Given the description of an element on the screen output the (x, y) to click on. 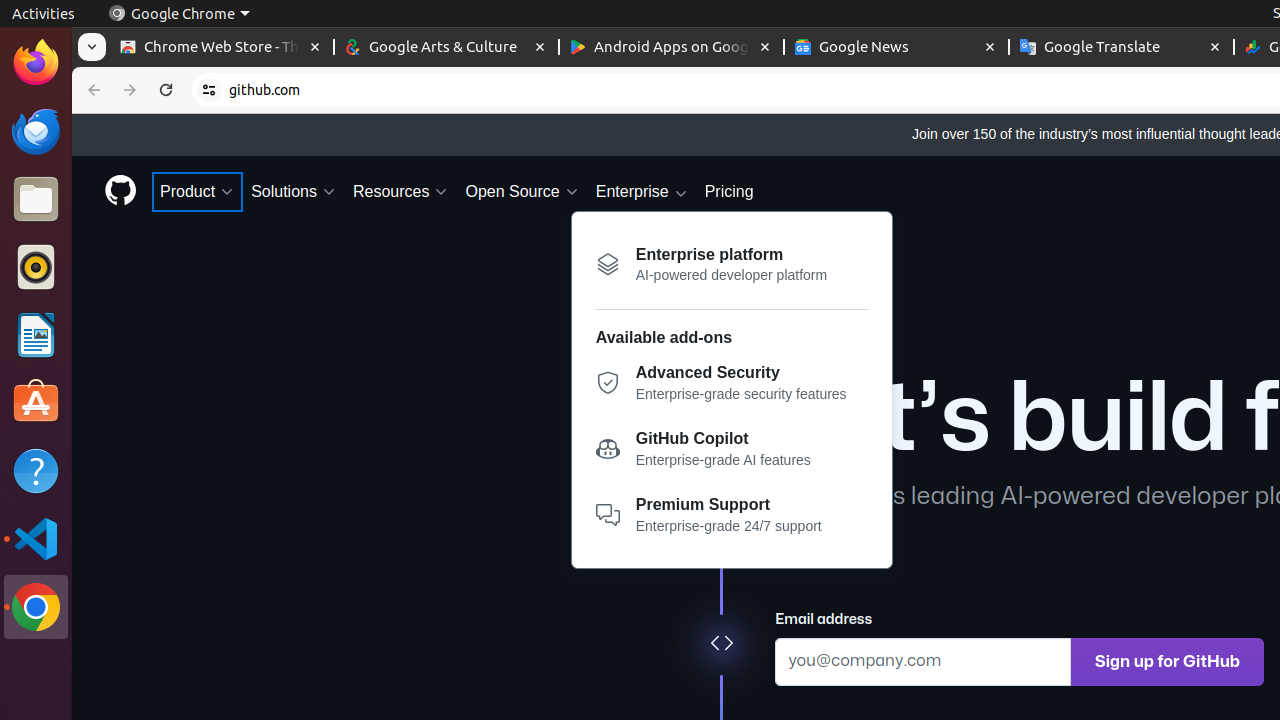
Forward Element type: push-button (130, 90)
View site information Element type: push-button (209, 90)
Advanced Security Enterprise-grade security features Element type: link (731, 387)
Android Apps on Google Play - Memory usage - 52.4 MB Element type: page-tab (671, 47)
Homepage Element type: link (120, 191)
